Given the description of an element on the screen output the (x, y) to click on. 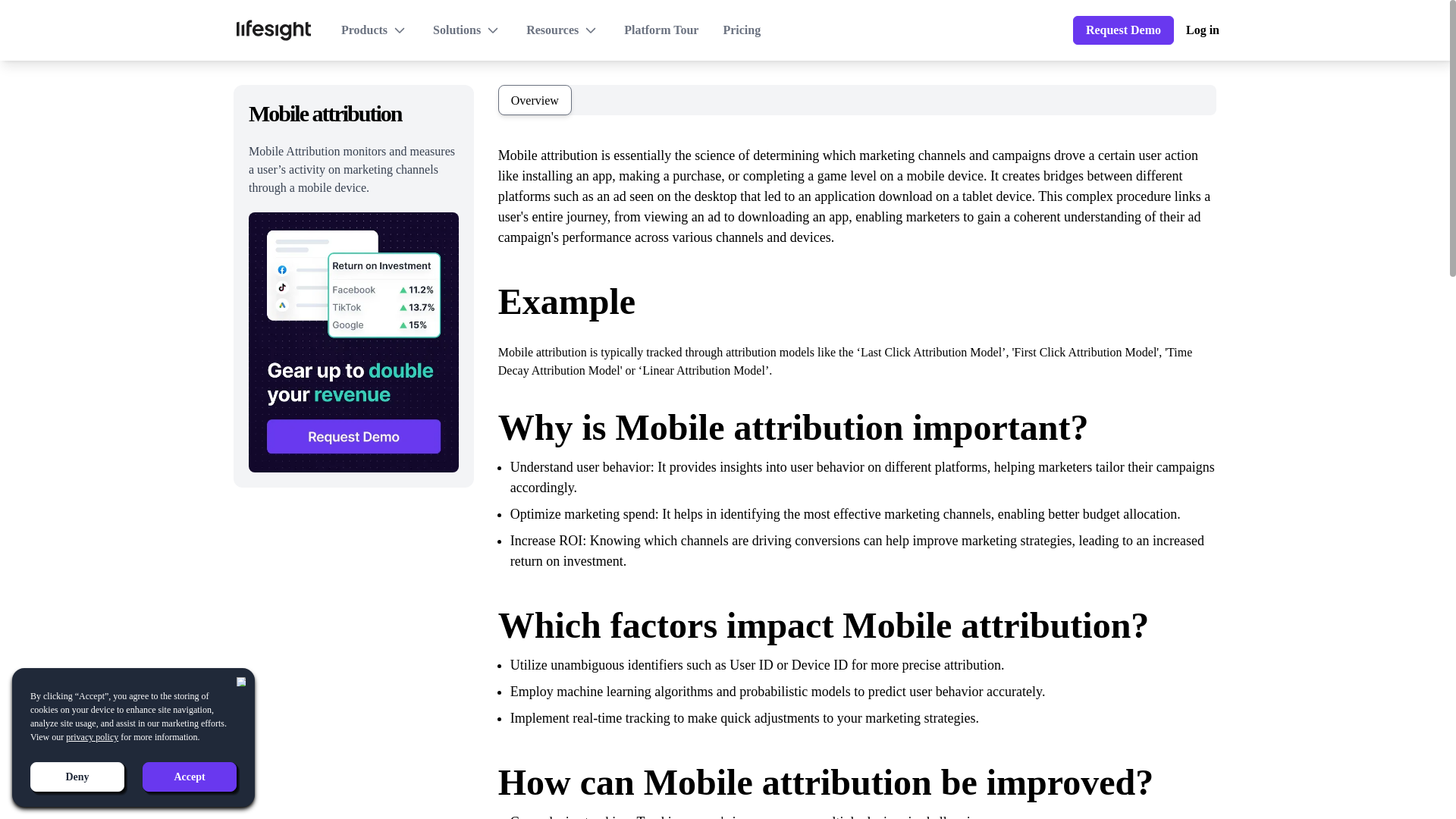
Overview (534, 100)
Pricing (741, 30)
Request Demo (1123, 30)
privacy policy (91, 737)
Accept (188, 776)
Log in (1203, 30)
Solutions (467, 30)
Resources (562, 30)
Platform Tour (661, 30)
Deny (76, 776)
Log in (1203, 29)
